Given the description of an element on the screen output the (x, y) to click on. 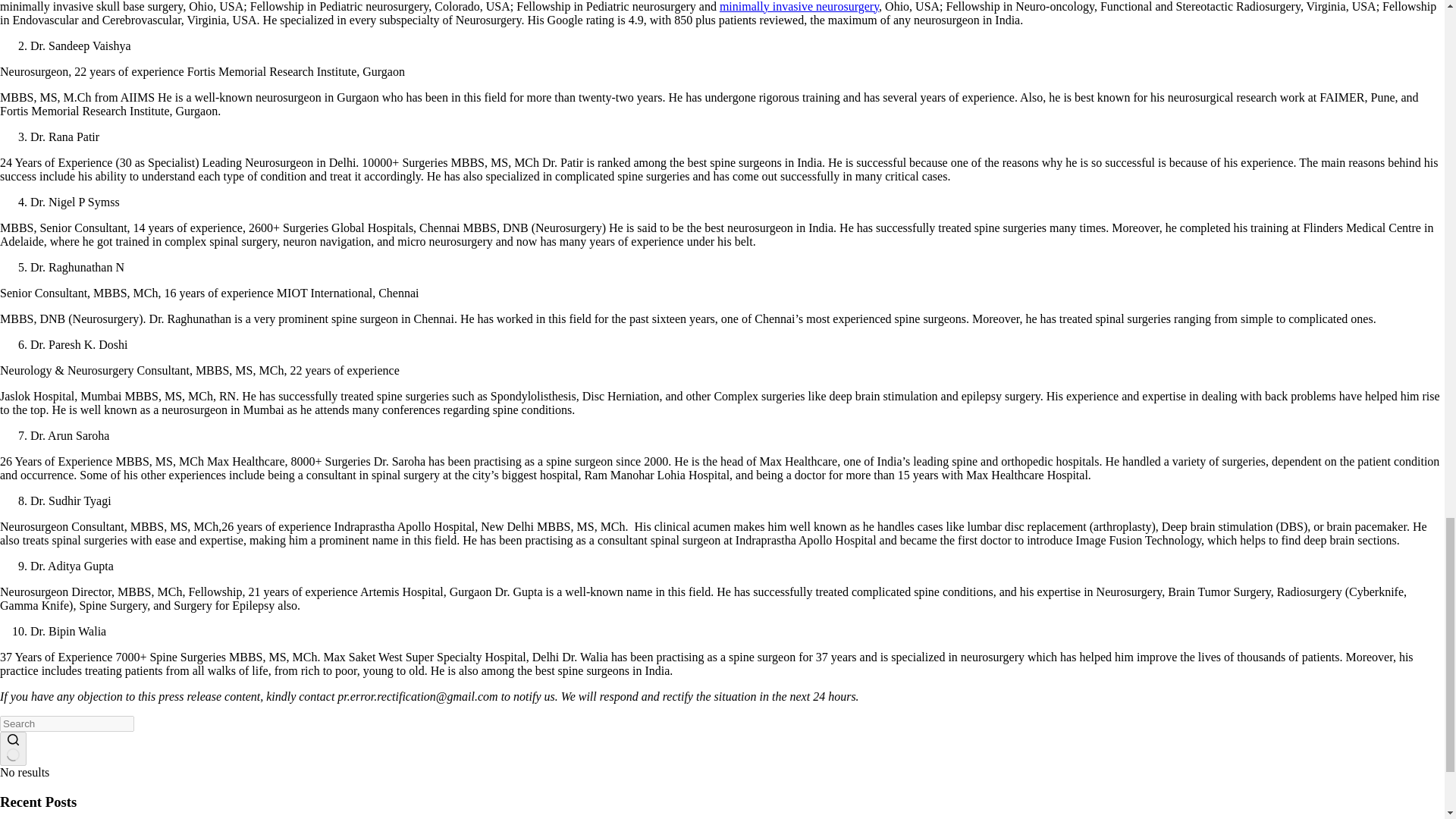
minimally invasive neurosurgery (799, 6)
Search for... (66, 723)
